Given the description of an element on the screen output the (x, y) to click on. 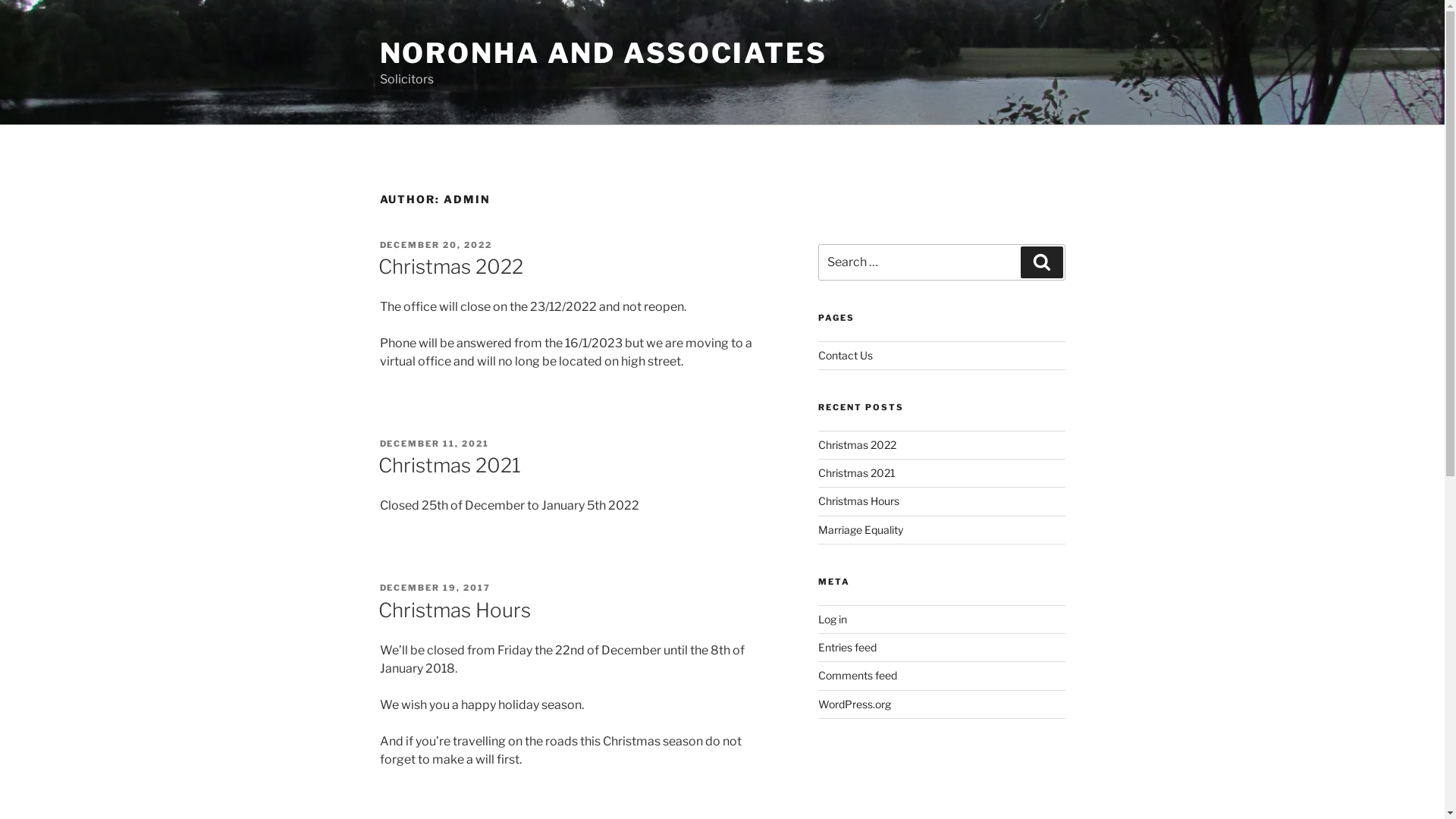
Comments feed Element type: text (857, 674)
NORONHA AND ASSOCIATES Element type: text (602, 52)
Search Element type: text (1041, 262)
DECEMBER 20, 2022 Element type: text (435, 244)
Entries feed Element type: text (847, 646)
Marriage Equality Element type: text (860, 529)
DECEMBER 11, 2021 Element type: text (434, 443)
Christmas 2022 Element type: text (857, 444)
Christmas Hours Element type: text (858, 500)
WordPress.org Element type: text (854, 703)
Contact Us Element type: text (845, 354)
Christmas 2021 Element type: text (448, 464)
Christmas Hours Element type: text (453, 609)
DECEMBER 19, 2017 Element type: text (434, 587)
Christmas 2021 Element type: text (856, 472)
Christmas 2022 Element type: text (449, 266)
Log in Element type: text (832, 618)
